Given the description of an element on the screen output the (x, y) to click on. 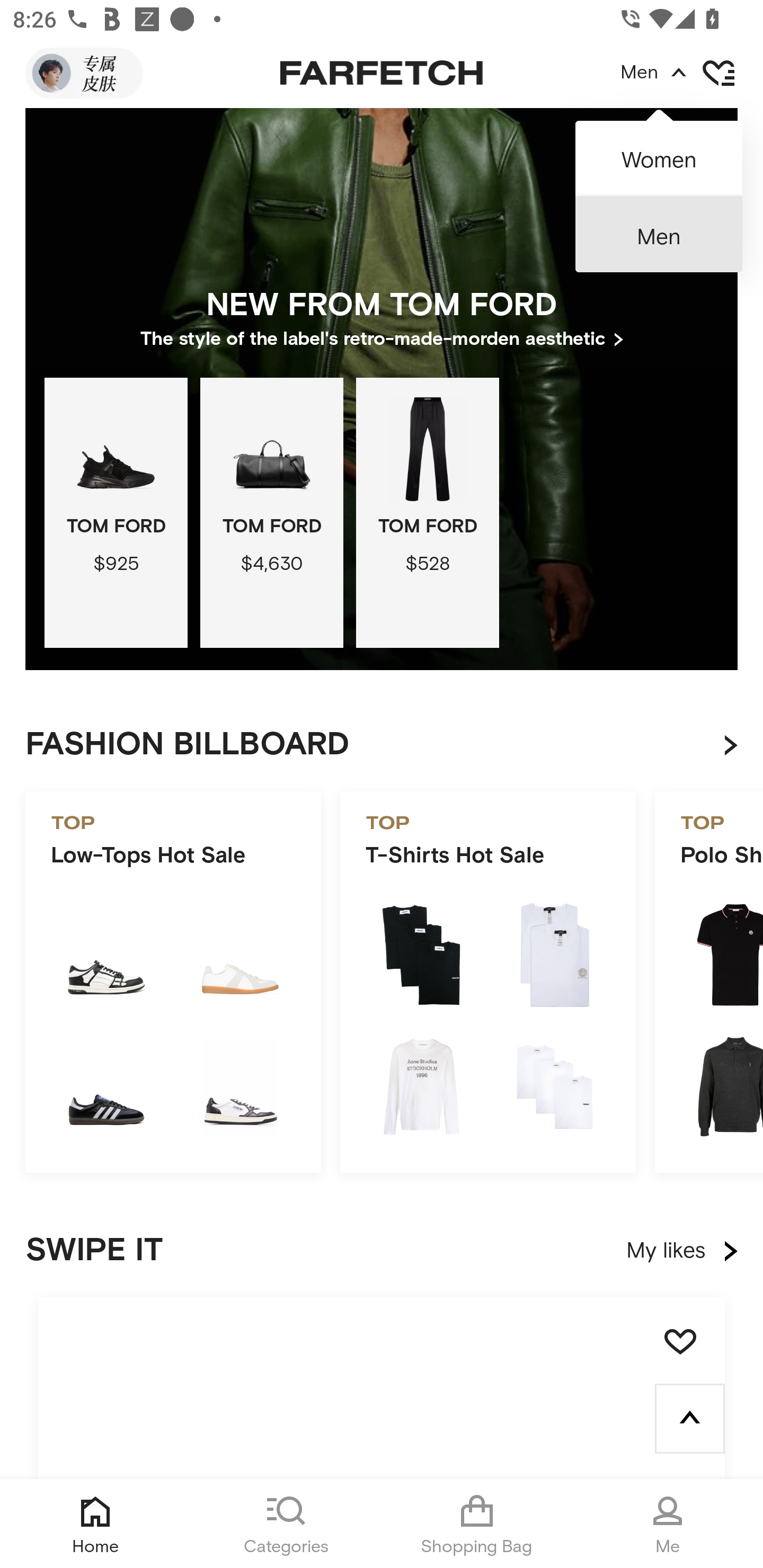
Women (658, 151)
Men (658, 234)
